Given the description of an element on the screen output the (x, y) to click on. 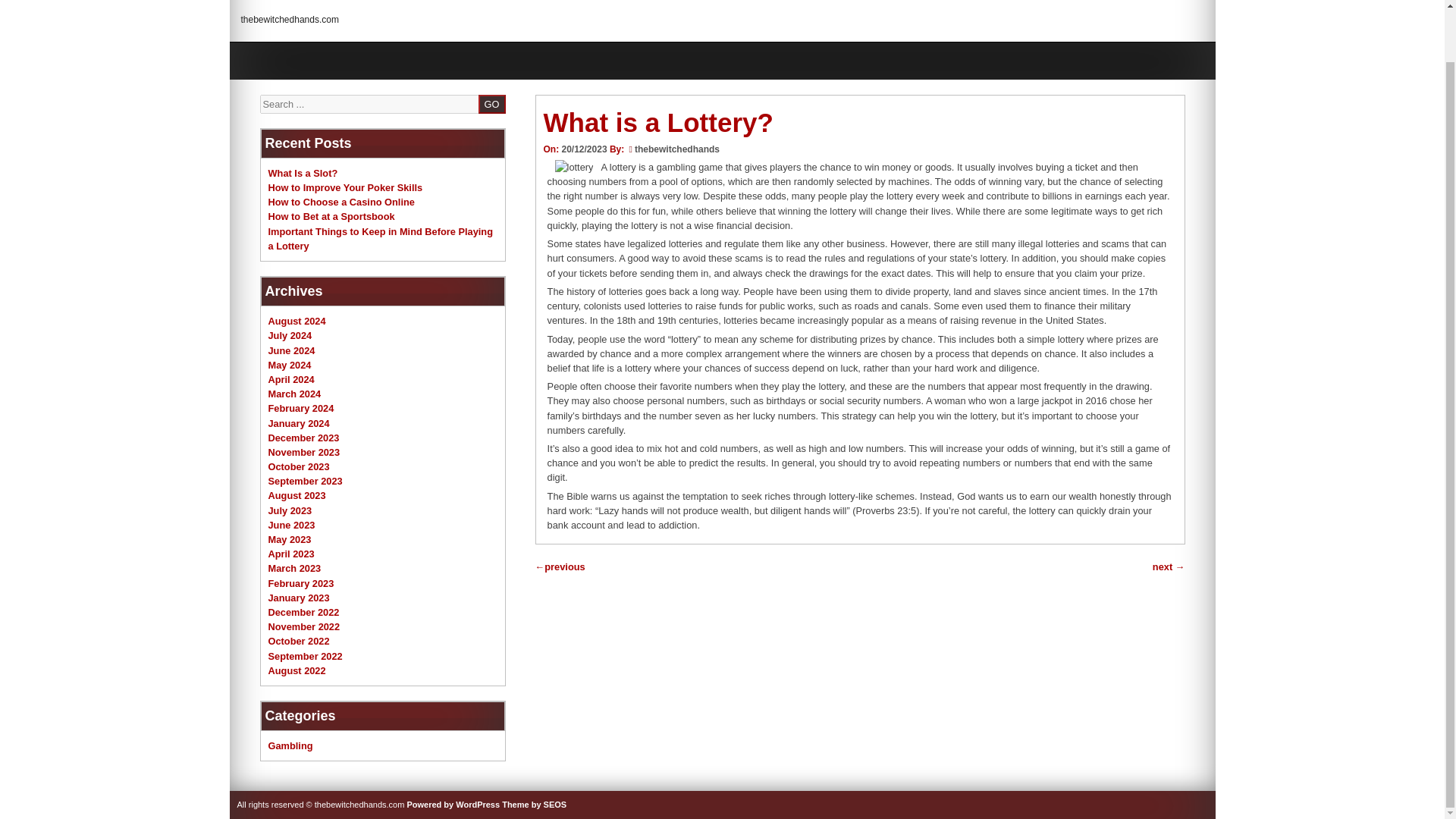
July 2023 (290, 510)
August 2022 (296, 670)
Important Things to Keep in Mind Before Playing a Lottery (380, 238)
August 2023 (296, 495)
October 2023 (298, 466)
May 2024 (289, 365)
thebewitchedhands (676, 149)
September 2023 (304, 480)
What Is a Slot? (302, 173)
GO (492, 103)
